Given the description of an element on the screen output the (x, y) to click on. 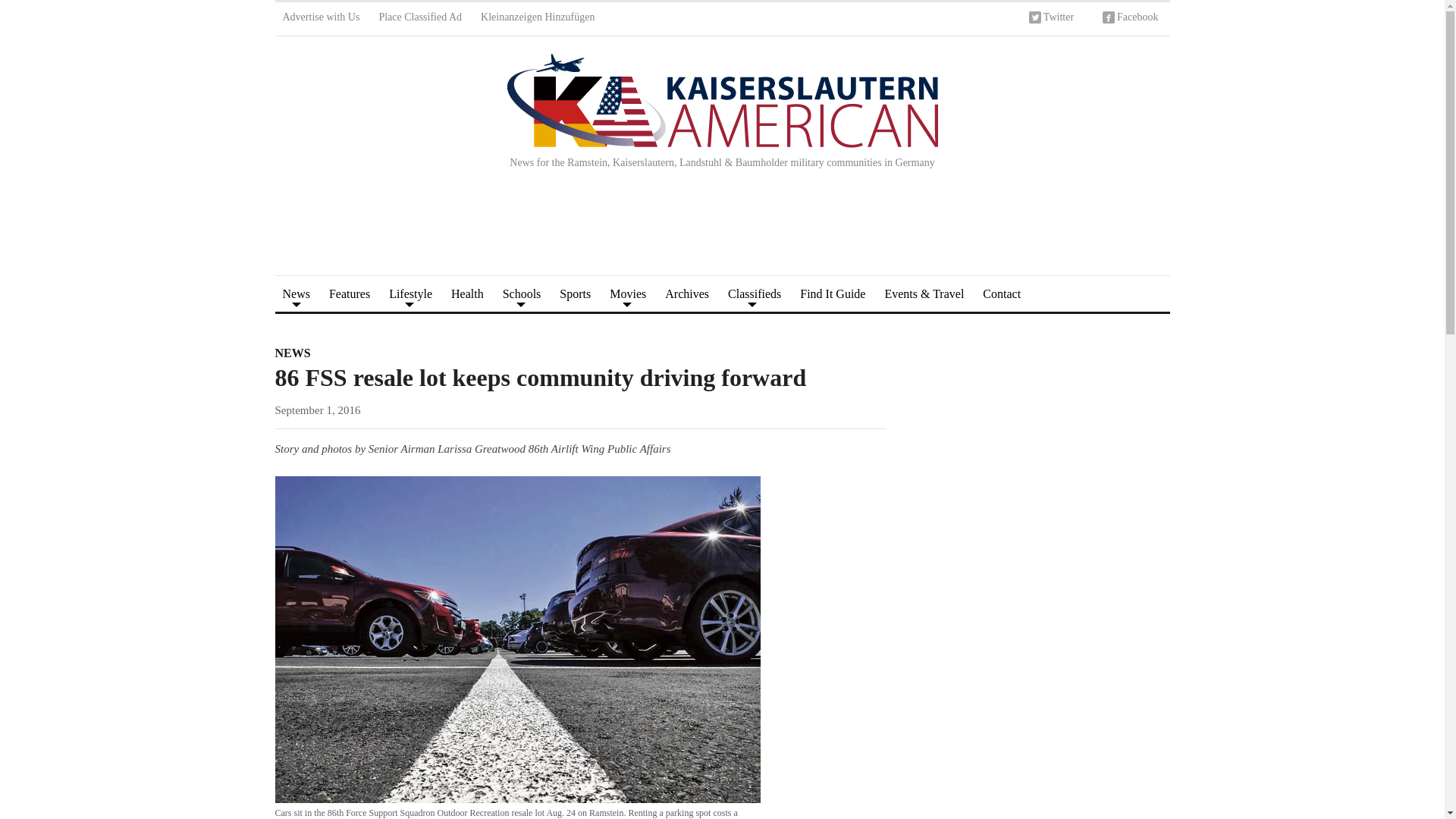
News (296, 294)
Health (468, 294)
Twitter (1051, 19)
Sports (574, 294)
Movies (627, 294)
Lifestyle (410, 294)
Schools (521, 294)
Place Classified Ad (419, 19)
Features (349, 294)
Things to do in Germany (410, 294)
Facebook (1130, 19)
Classifieds (754, 294)
Advertise with Us (320, 19)
Archives (687, 294)
